Given the description of an element on the screen output the (x, y) to click on. 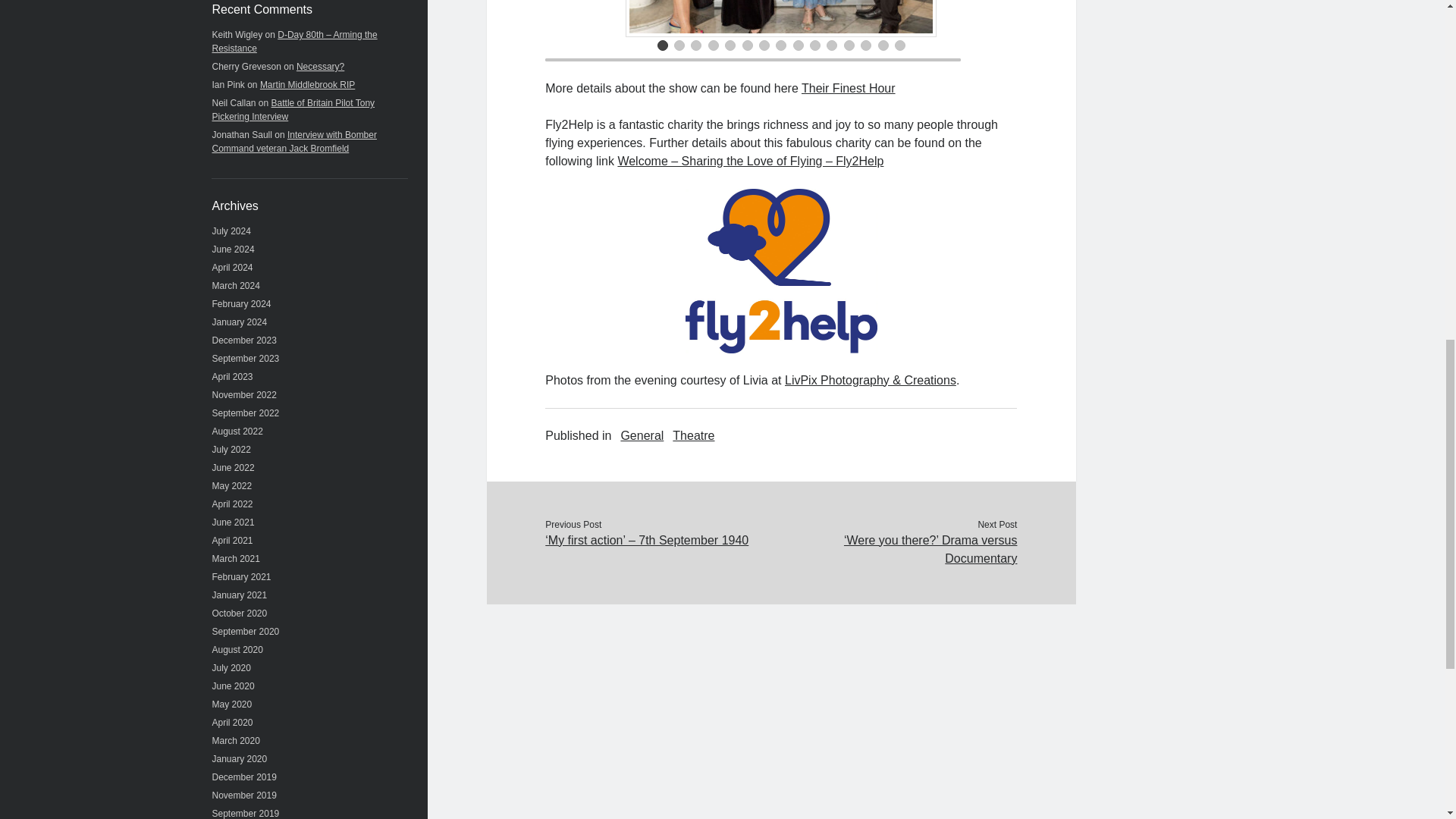
View all posts in Theatre (693, 435)
View all posts in General (641, 435)
